Given the description of an element on the screen output the (x, y) to click on. 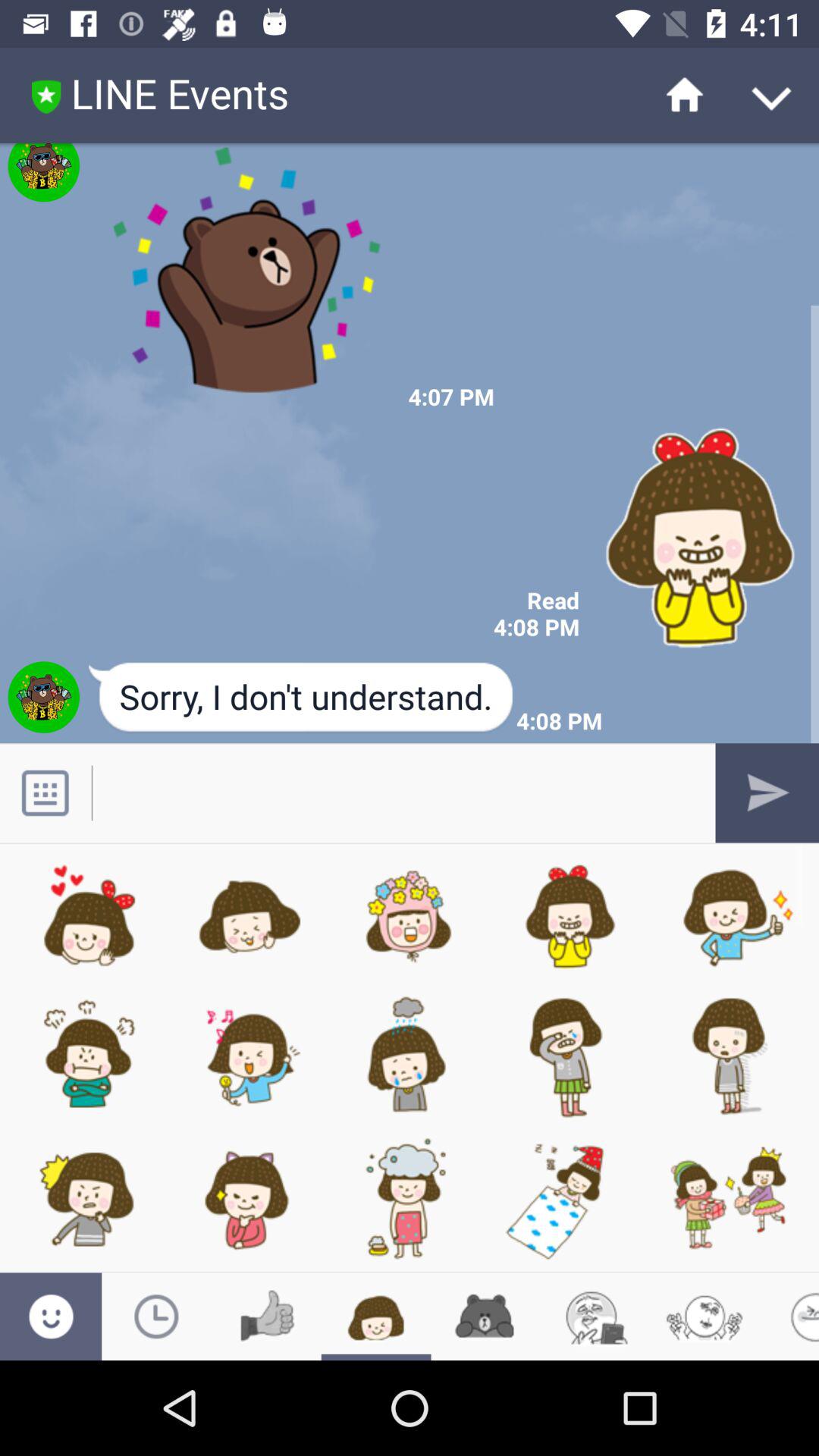
tap icon to the left of the 4:08 pm item (301, 698)
